Given the description of an element on the screen output the (x, y) to click on. 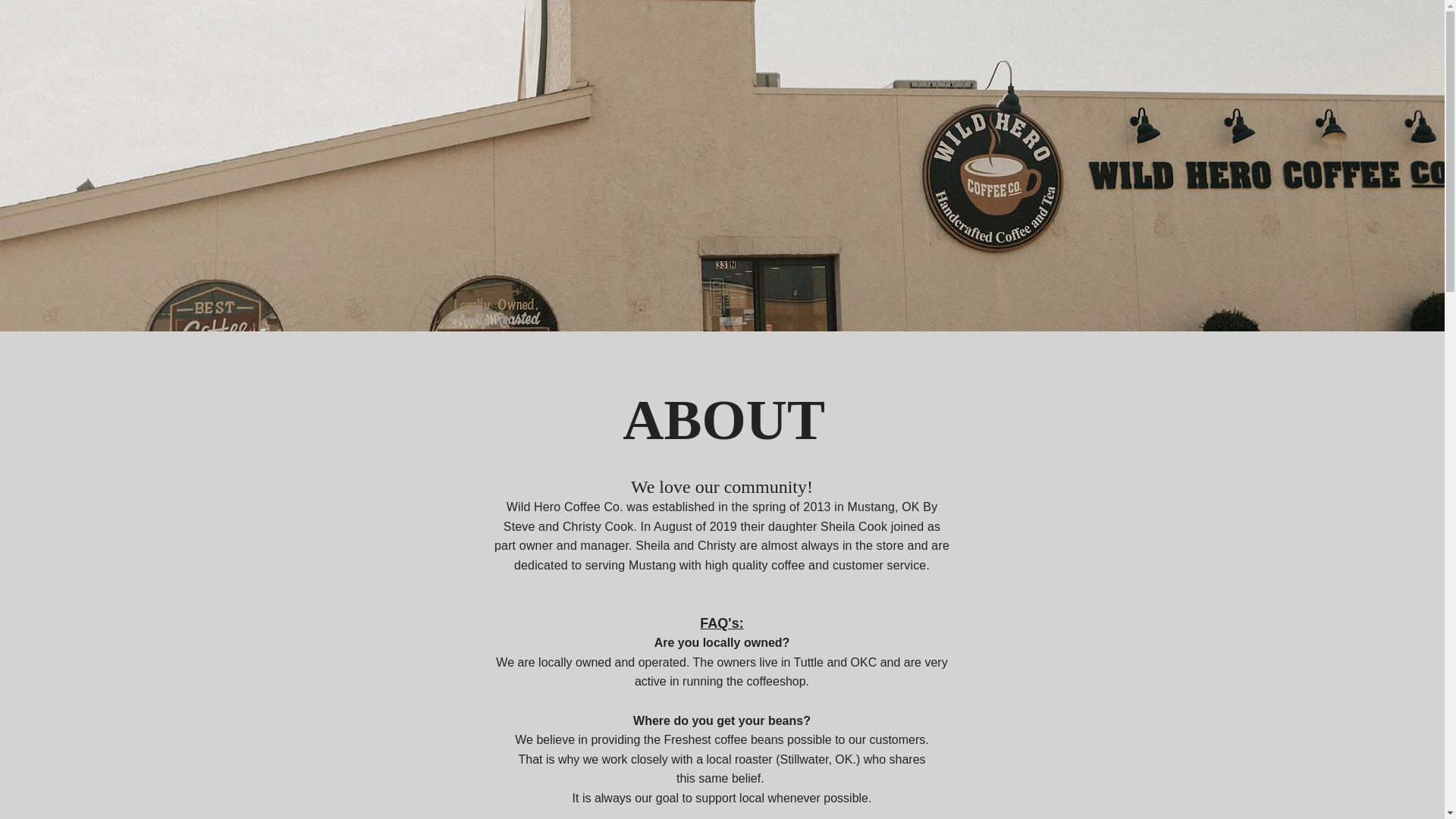
MENU (419, 20)
HOME (373, 20)
ABOUT (519, 20)
RETAIL (467, 20)
